Given the description of an element on the screen output the (x, y) to click on. 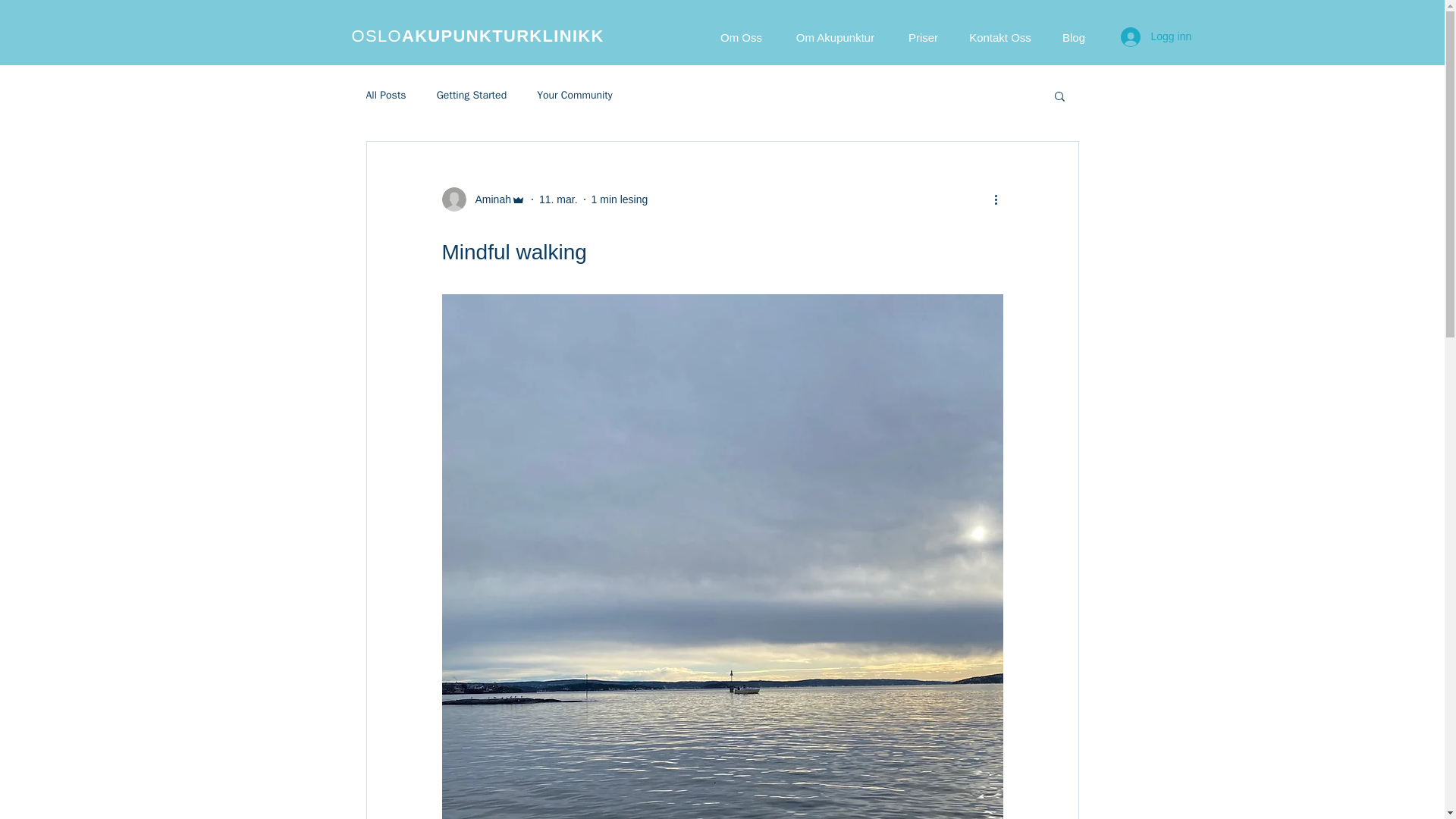
Blog (1073, 36)
Kontakt Oss (999, 36)
11. mar. (558, 198)
Priser (923, 36)
Logg inn (1155, 36)
All Posts (385, 95)
Aminah (482, 199)
Your Community (574, 95)
Getting Started (471, 95)
Aminah  (488, 198)
